Given the description of an element on the screen output the (x, y) to click on. 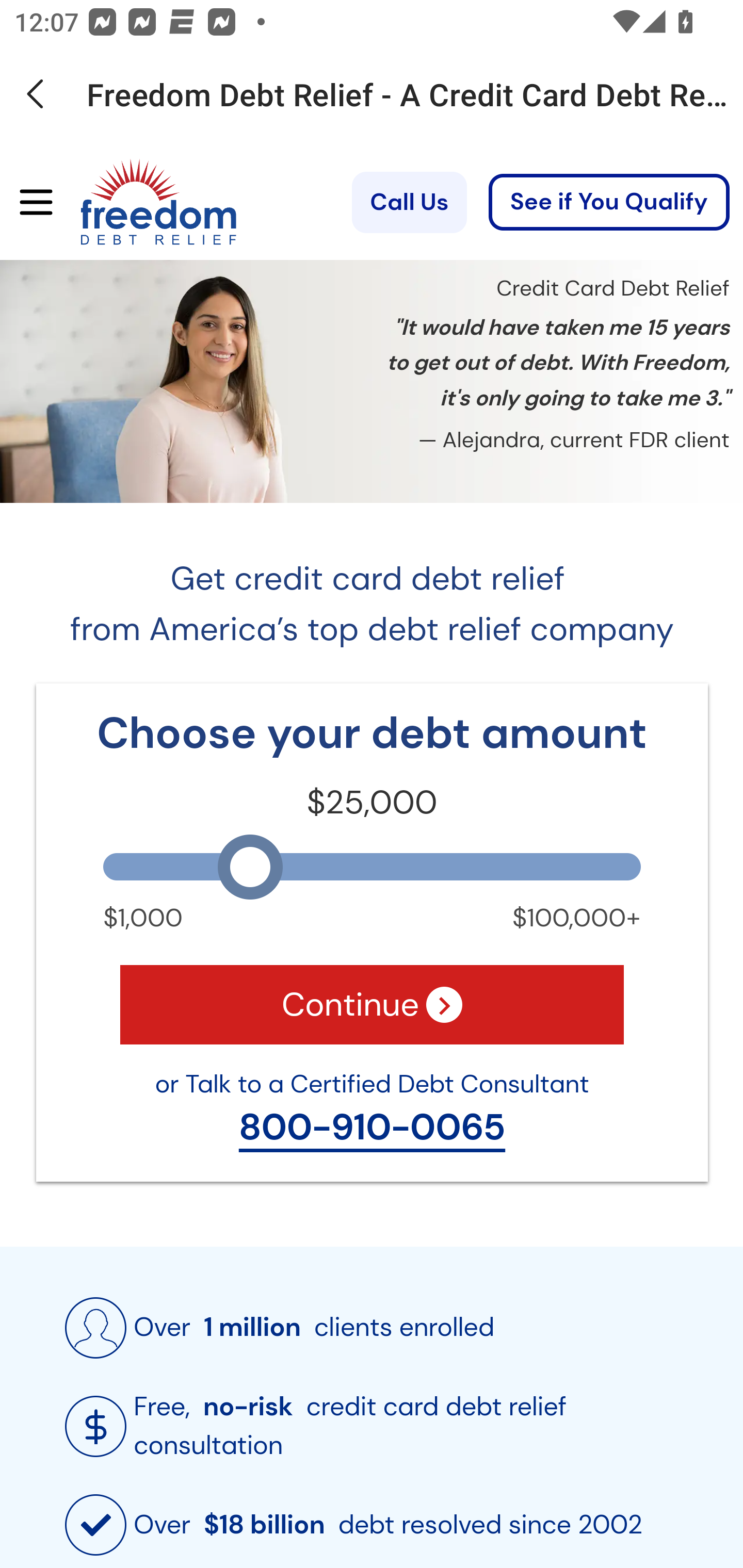
Freedom Debt Relief (130, 202)
Call Us (408, 202)
See if You Qualify (609, 203)
menu toggle (28, 202)
25000.0 (371, 866)
Continue (371, 1004)
phone number 800-910-0065 (371, 1127)
